Given the description of an element on the screen output the (x, y) to click on. 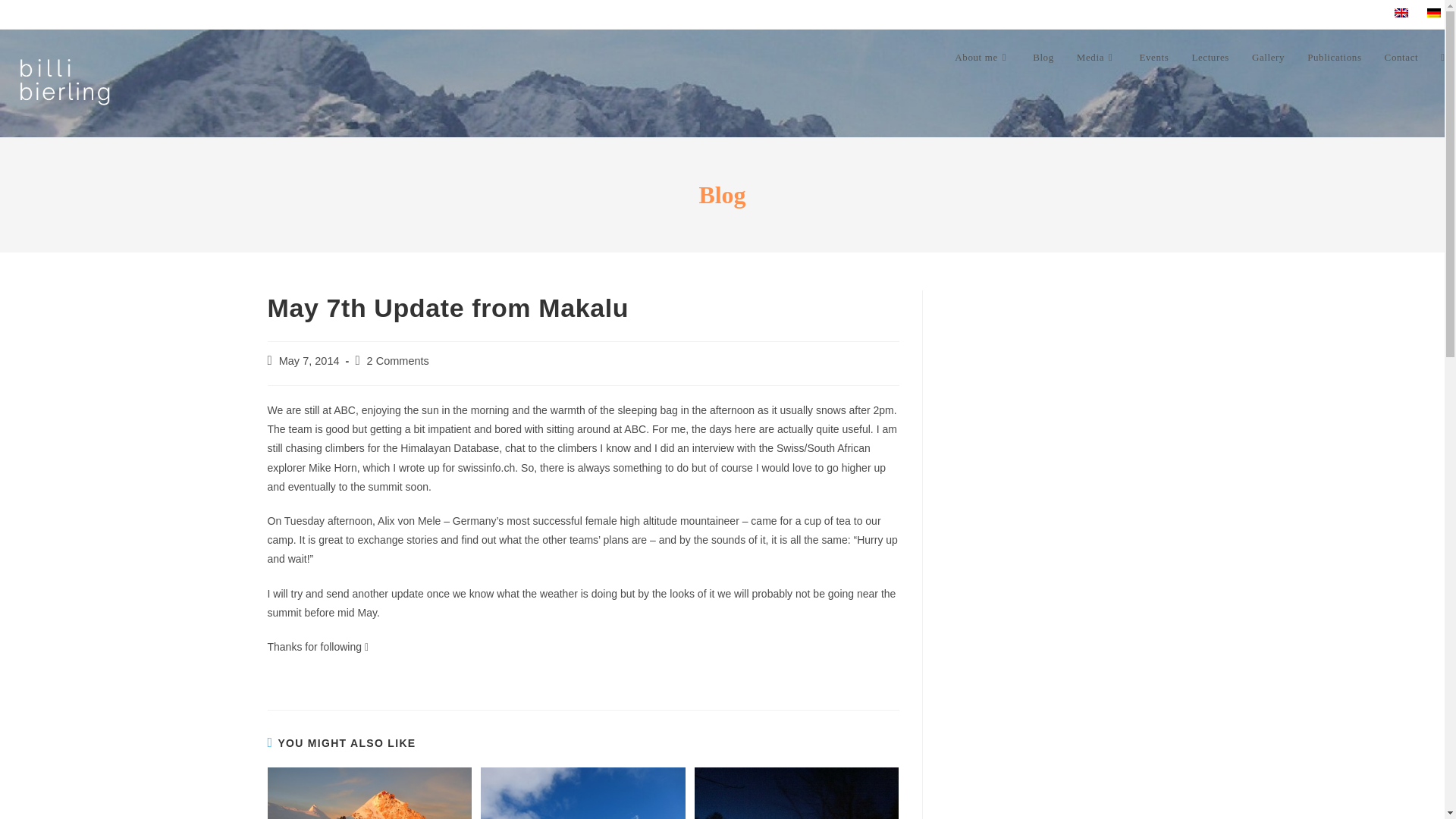
Events (1152, 57)
About me (982, 57)
Media (1096, 57)
Gallery (1267, 57)
Lectures (1209, 57)
English (1400, 12)
German (1433, 12)
Publications (1334, 57)
Contact (1401, 57)
